Given the description of an element on the screen output the (x, y) to click on. 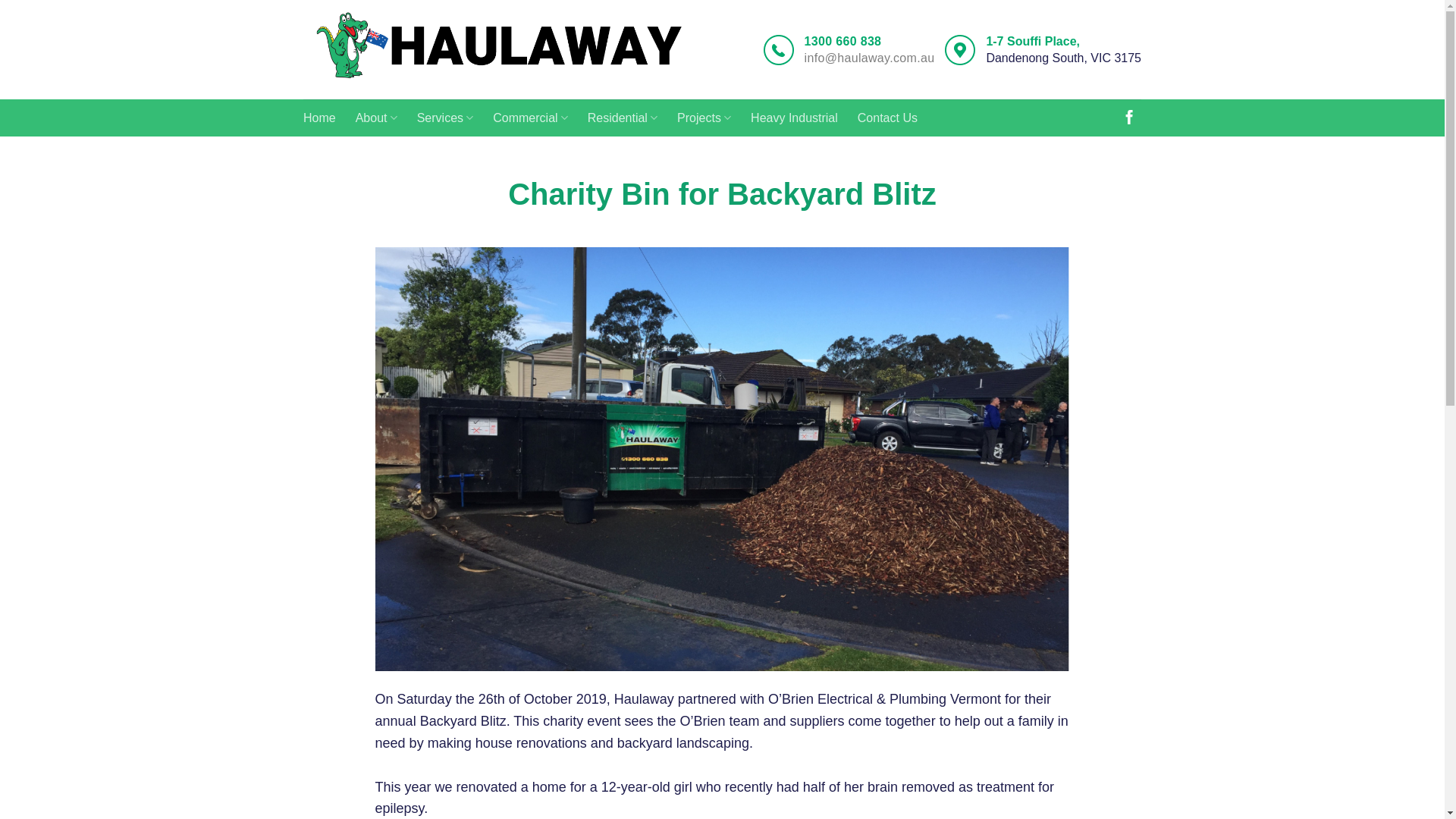
Commercial Element type: text (529, 117)
Residential Element type: text (622, 117)
Services Element type: text (445, 117)
About Element type: text (376, 117)
Haulaway - Waste Management and Recycling Element type: hover (498, 49)
info@haulaway.com.au Element type: text (869, 58)
1300 660 838 Element type: text (842, 41)
Projects Element type: text (704, 117)
Home Element type: text (319, 117)
Contact Us Element type: text (887, 117)
Heavy Industrial Element type: text (793, 117)
